Given the description of an element on the screen output the (x, y) to click on. 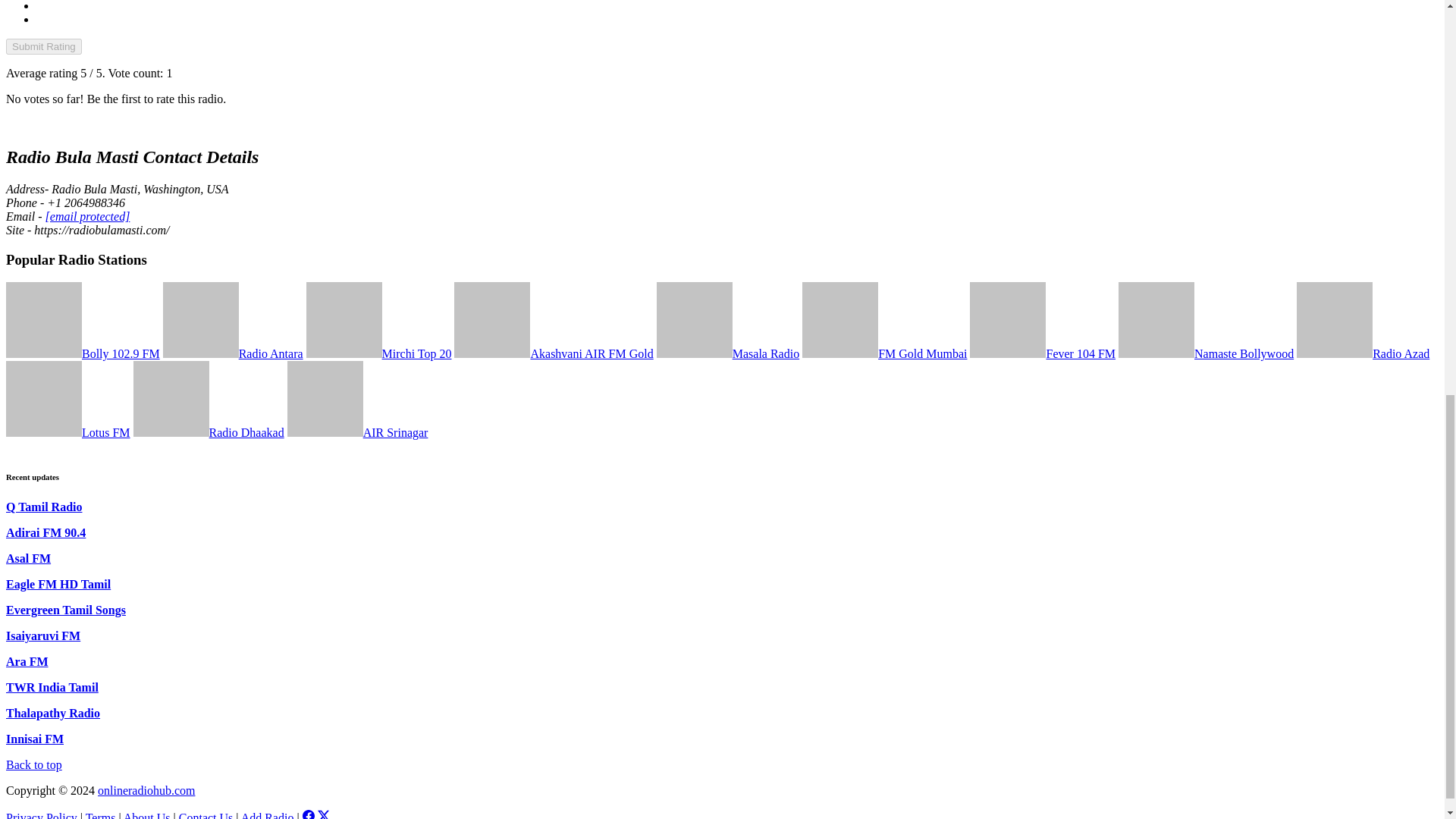
Isaiyaruvi FM (42, 635)
TWR India Tamil (52, 686)
Thalapathy Radio (52, 712)
Ara FM (26, 661)
Adirai FM 90.4 (45, 532)
Radio Dhaakad (208, 431)
Fever 104 FM (1042, 353)
Eagle FM HD Tamil (57, 584)
Mirchi Top 20 (378, 353)
Evergreen Tamil Songs (65, 609)
FM Gold Mumbai (884, 353)
Radio Azad (1363, 353)
AIR Srinagar (357, 431)
Lotus FM (68, 431)
Submit Rating (43, 46)
